Given the description of an element on the screen output the (x, y) to click on. 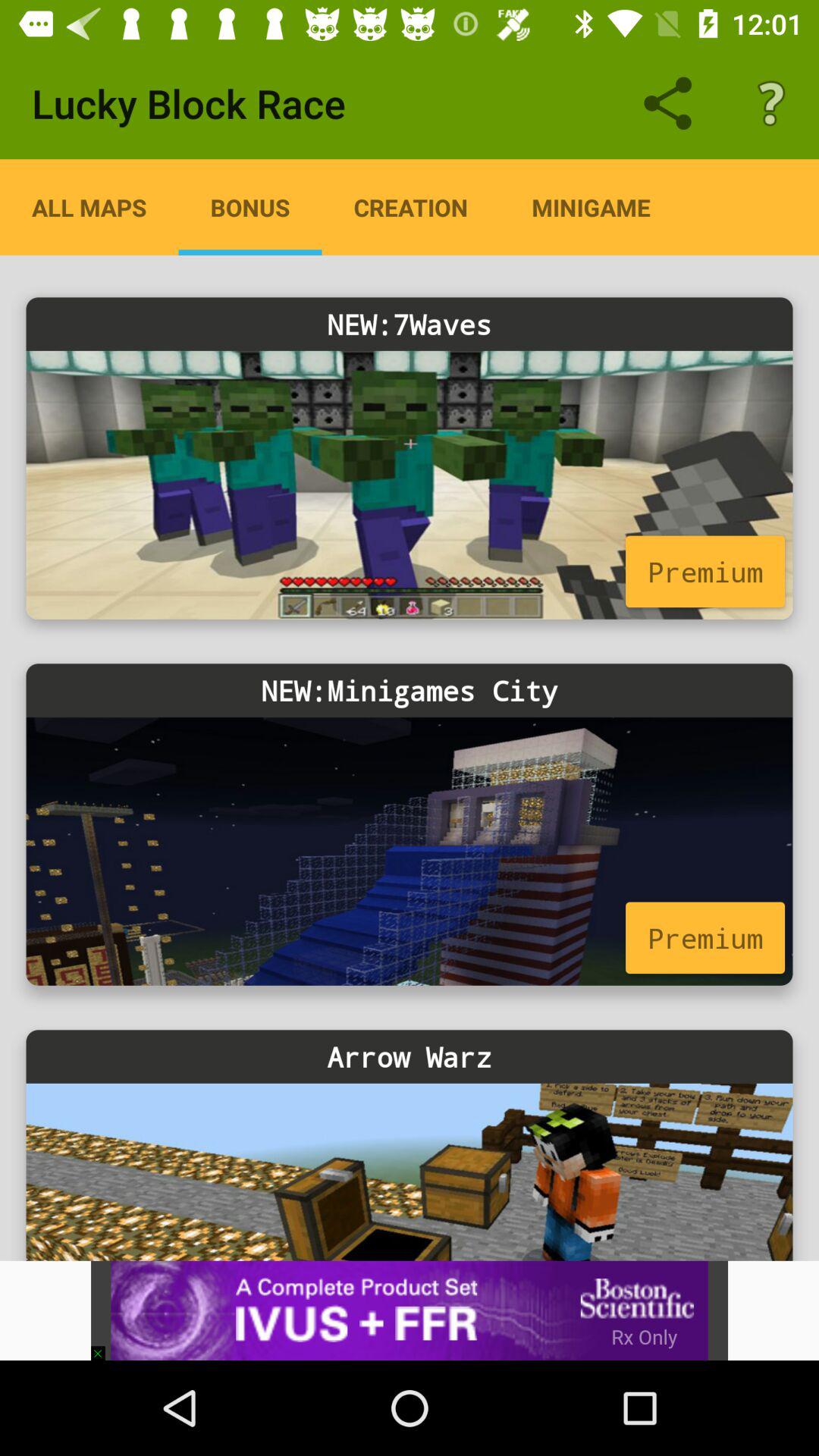
open app to the left of the bonus app (89, 207)
